Given the description of an element on the screen output the (x, y) to click on. 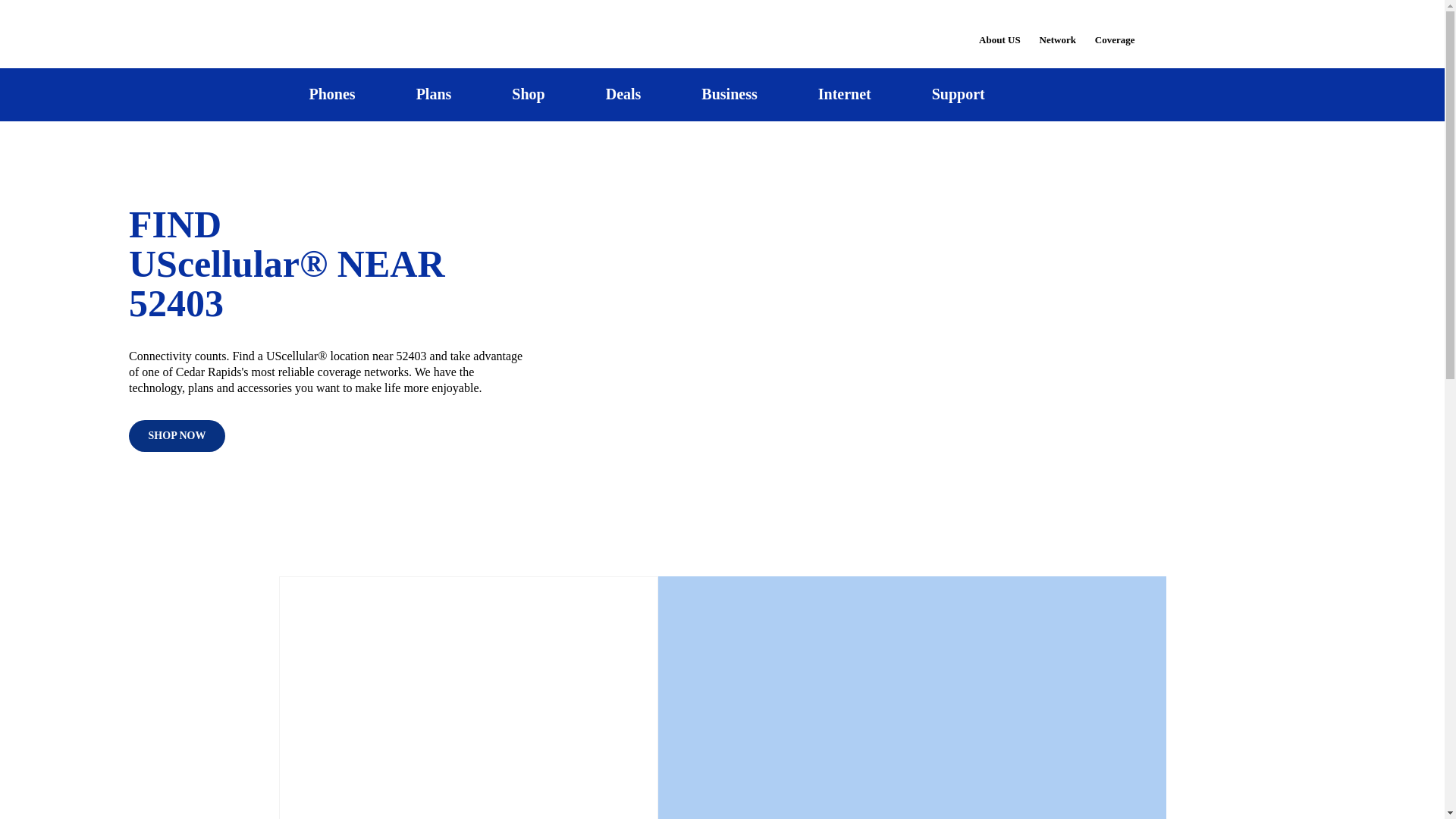
Business (729, 94)
Phones (332, 94)
Deals (623, 94)
Shop (528, 94)
About US (999, 30)
Coverage (1115, 29)
Network (1057, 30)
Support (957, 94)
SHOP NOW (177, 436)
Plans (433, 94)
Internet (844, 94)
